Given the description of an element on the screen output the (x, y) to click on. 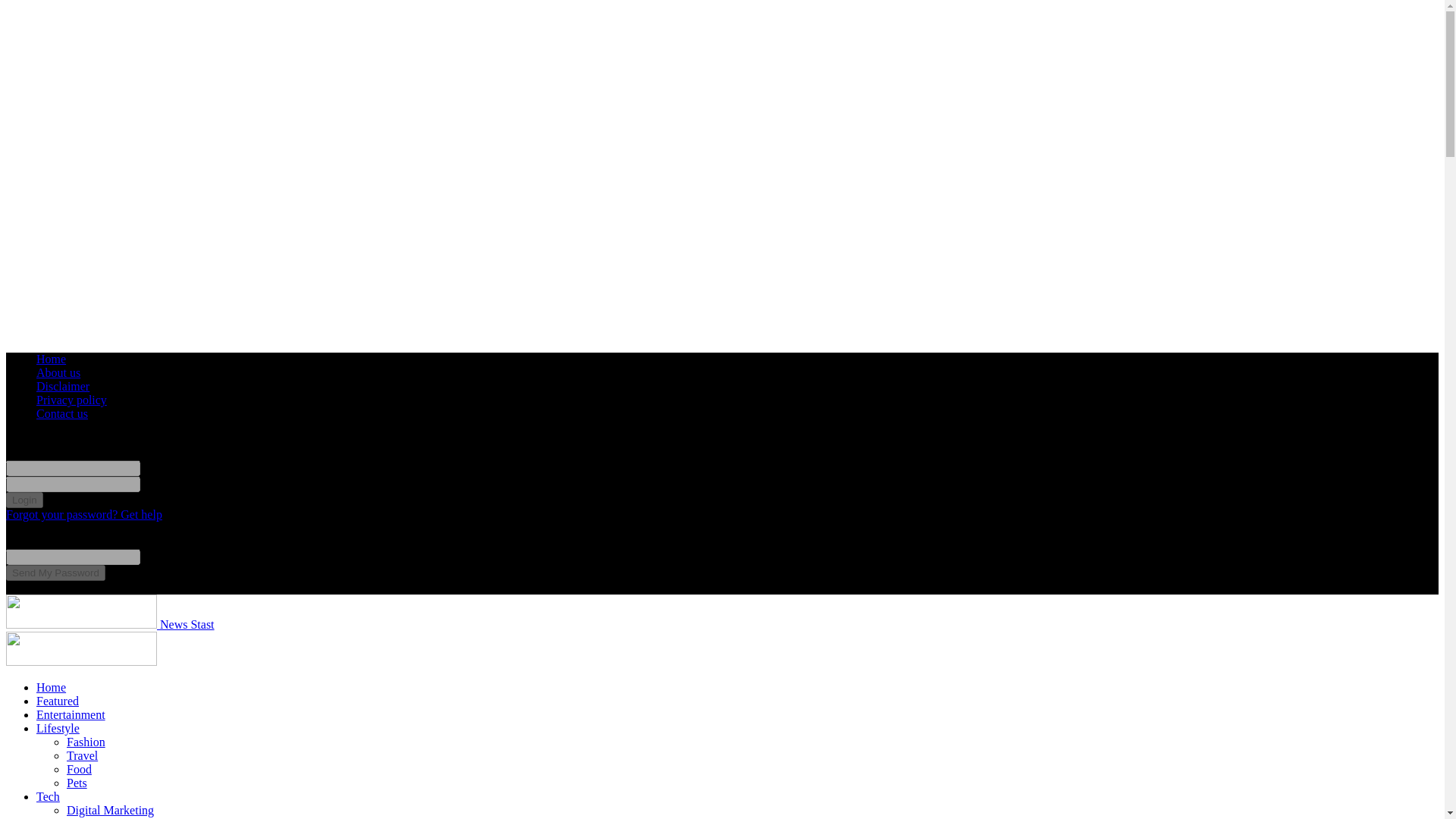
Forgot your password? Get help (83, 513)
Contact us (61, 413)
Disclaimer (62, 386)
Privacy policy (71, 399)
About us (58, 372)
Home (50, 358)
Login (24, 499)
News Stast (109, 624)
Send My Password (54, 572)
